Given the description of an element on the screen output the (x, y) to click on. 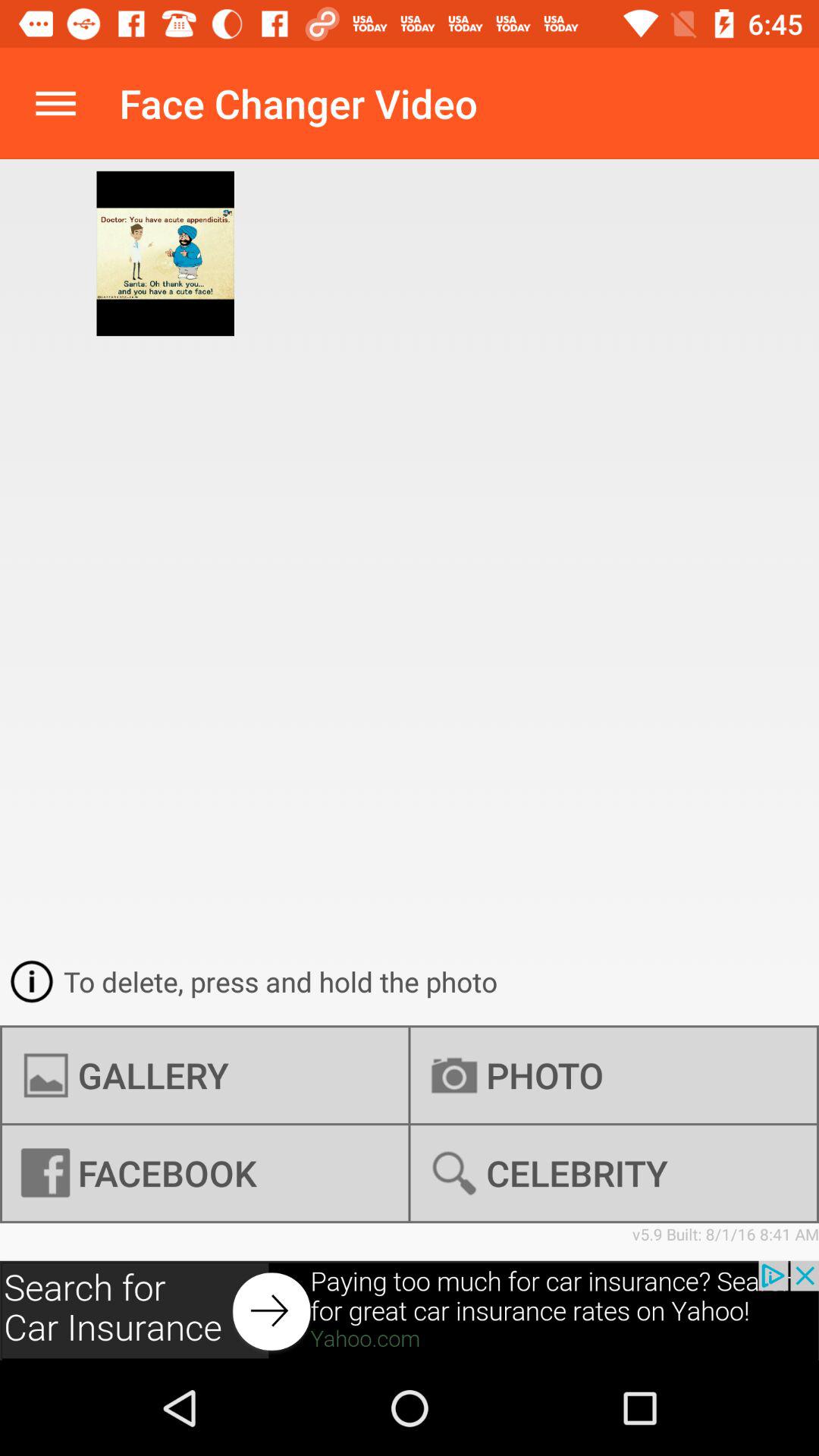
menu button (55, 103)
